Given the description of an element on the screen output the (x, y) to click on. 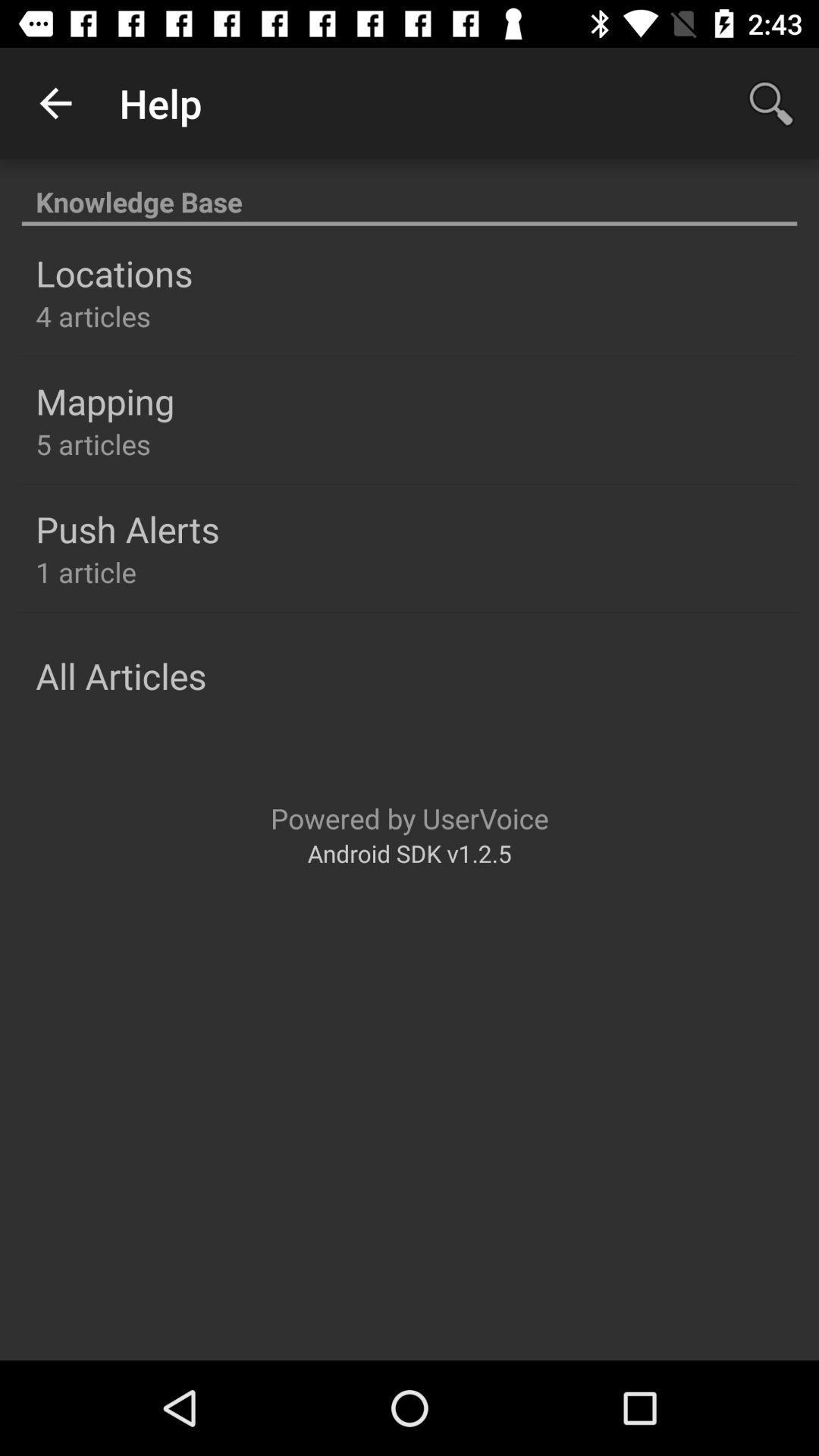
open the android sdk v1 icon (409, 853)
